Given the description of an element on the screen output the (x, y) to click on. 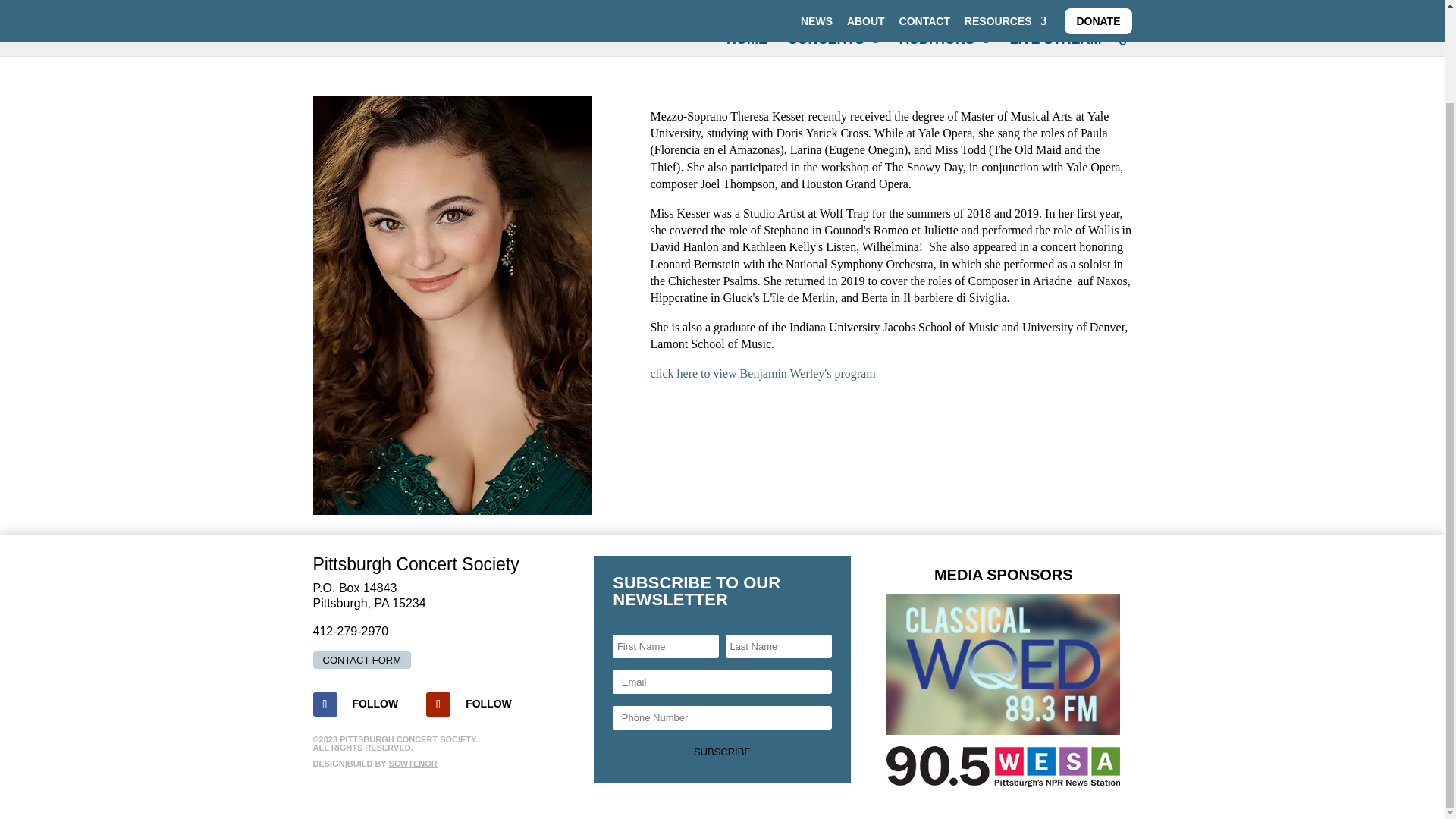
FOLLOW (374, 703)
Follow on Facebook (324, 704)
Youtube (489, 703)
Facebook (374, 703)
CONTACT FORM (361, 660)
SCWTENOR (413, 763)
WQED-89.3-FM (1002, 664)
FOLLOW (489, 703)
Follow on Youtube (437, 704)
click here to view Benjamin Werley's program (762, 373)
WESA (1002, 766)
SUBSCRIBE (721, 753)
